Given the description of an element on the screen output the (x, y) to click on. 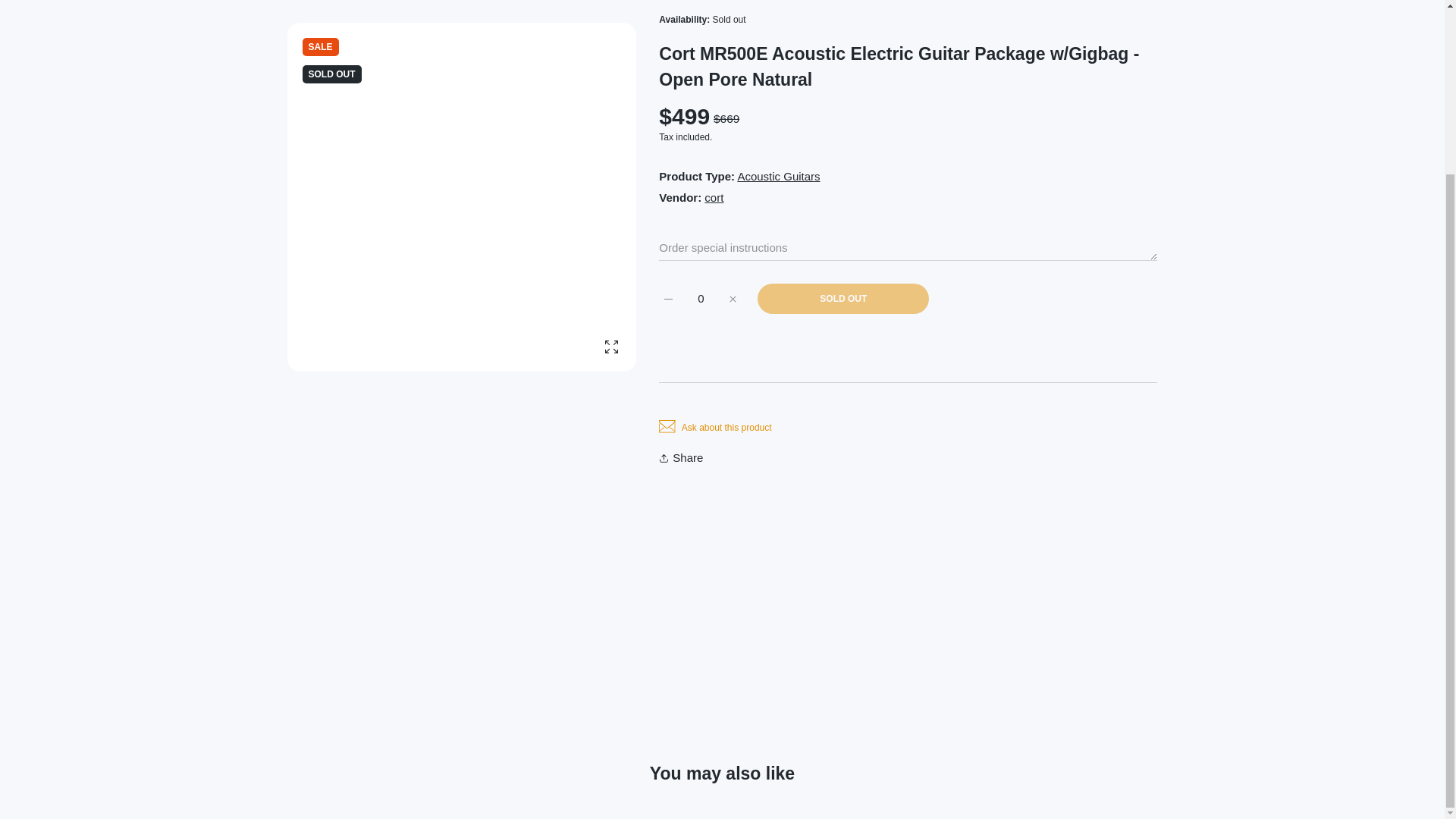
Acoustic Guitars (777, 175)
0 (700, 298)
